Given the description of an element on the screen output the (x, y) to click on. 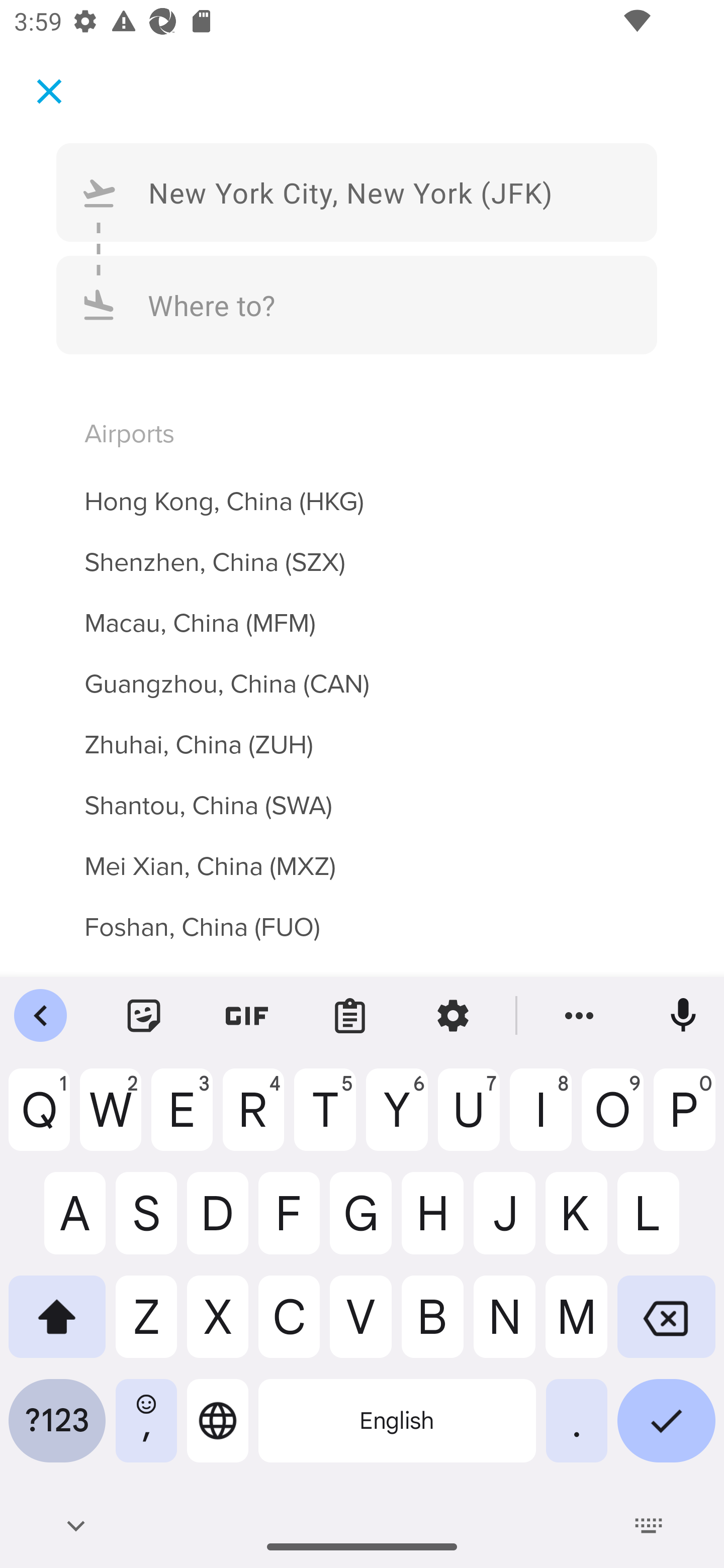
Cancel (49, 90)
New York City, New York (JFK) (356, 191)
Where to? (356, 304)
Hong Kong, China (HKG) (361, 489)
Shenzhen, China (SZX) (361, 550)
Macau, China (MFM) (361, 611)
Guangzhou, China (CAN) (361, 672)
Zhuhai, China (ZUH) (361, 732)
Shantou, China (SWA) (361, 793)
Mei Xian, China (MXZ) (361, 854)
Foshan, China (FUO) (361, 927)
